Given the description of an element on the screen output the (x, y) to click on. 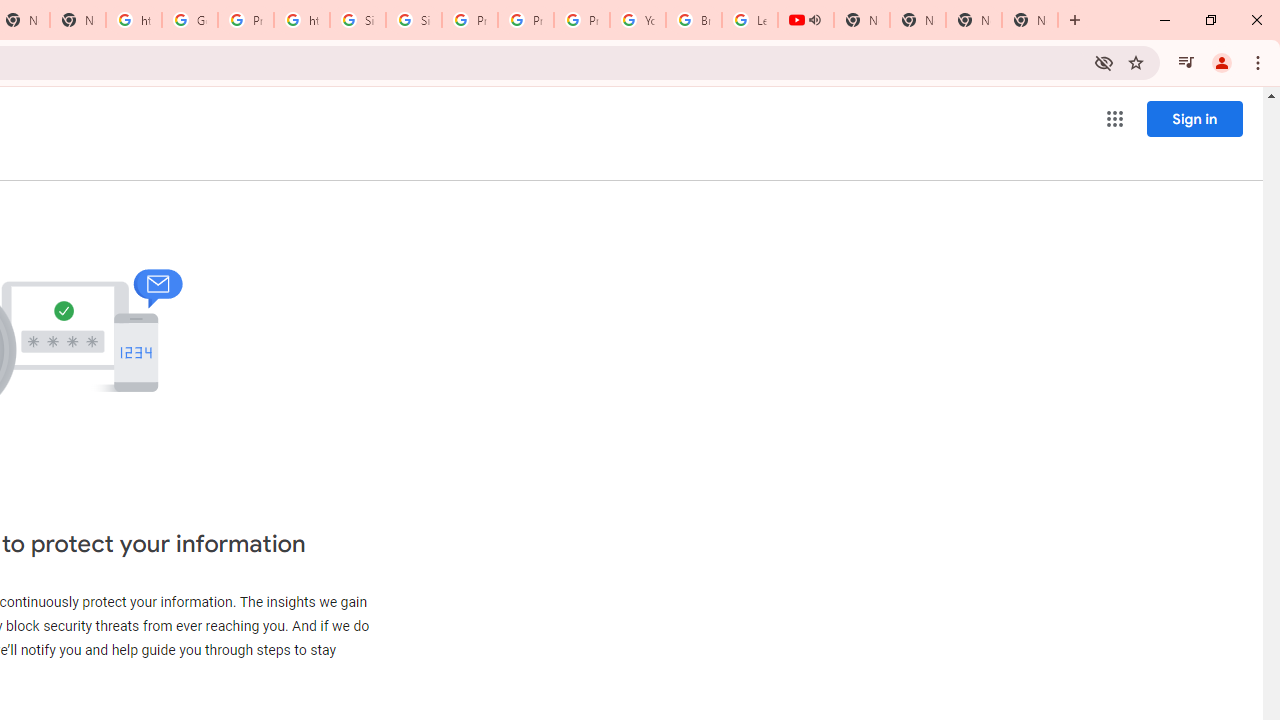
Privacy Help Center - Policies Help (525, 20)
New Tab (973, 20)
https://scholar.google.com/ (301, 20)
https://scholar.google.com/ (134, 20)
